Given the description of an element on the screen output the (x, y) to click on. 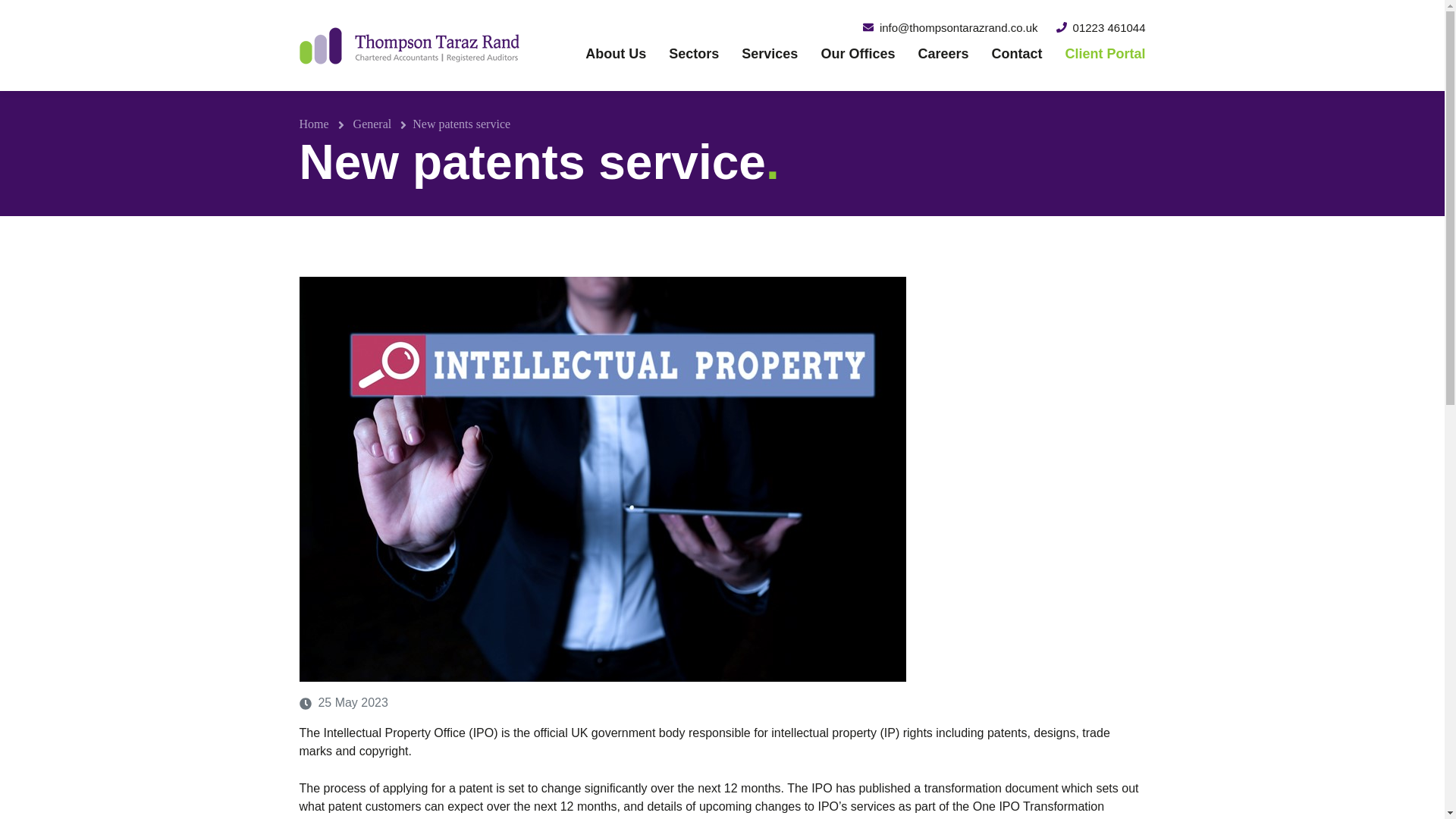
Careers (942, 54)
Contact (1015, 54)
About Us (615, 54)
General (372, 123)
01223 461044 (1101, 27)
Home (313, 123)
Services (769, 54)
Client Portal (1098, 54)
Sectors (694, 54)
Thompson Taraz Rand (408, 45)
